Given the description of an element on the screen output the (x, y) to click on. 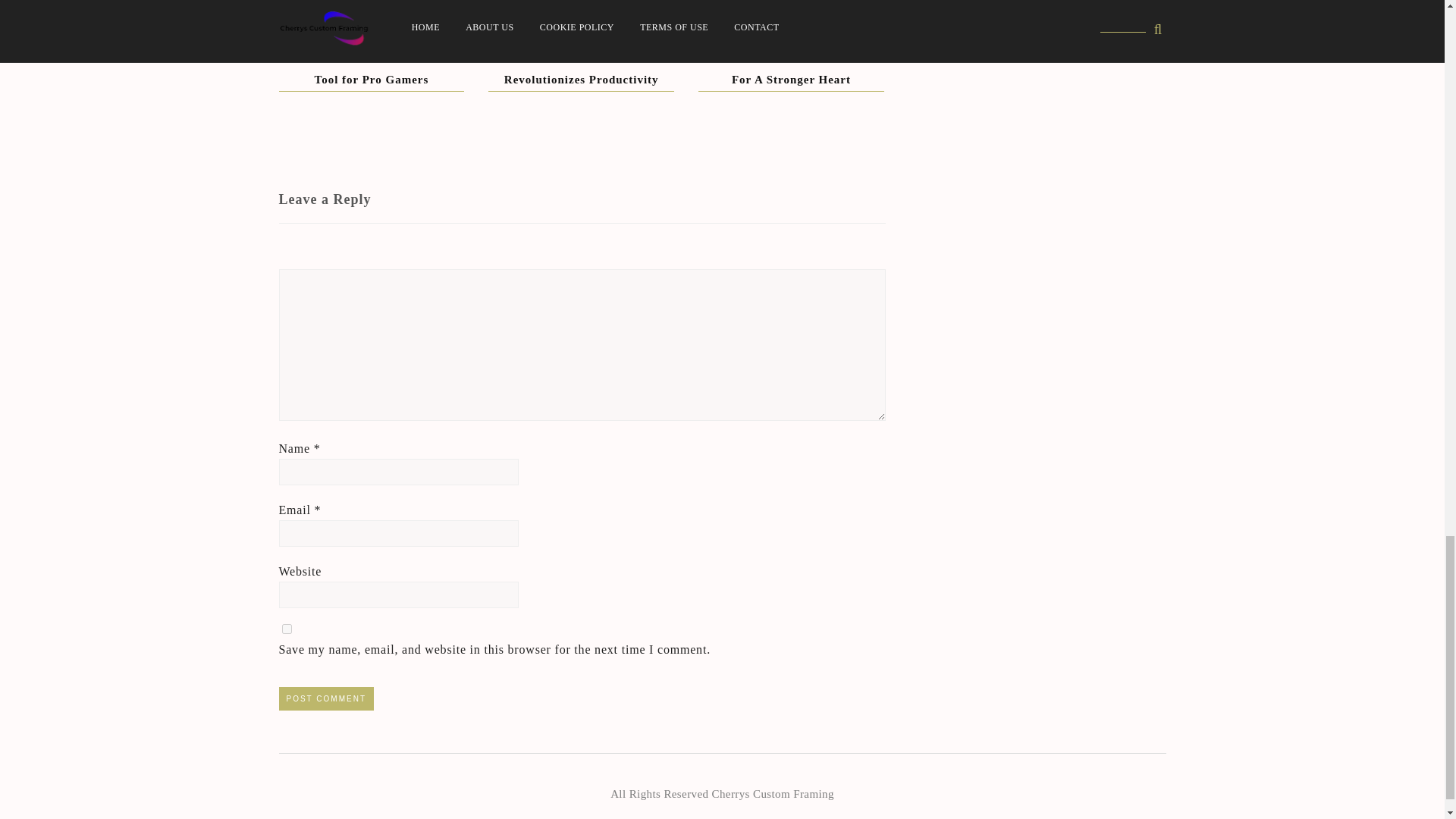
yes (287, 628)
The Ultimate Gaming Stimulator Tool for Pro Gamers (371, 67)
Post Comment (326, 698)
Top Cardiovascular Health Tips For A Stronger Heart (790, 67)
New Easy-To-Use App Revolutionizes Productivity (581, 67)
Post Comment (326, 698)
